Given the description of an element on the screen output the (x, y) to click on. 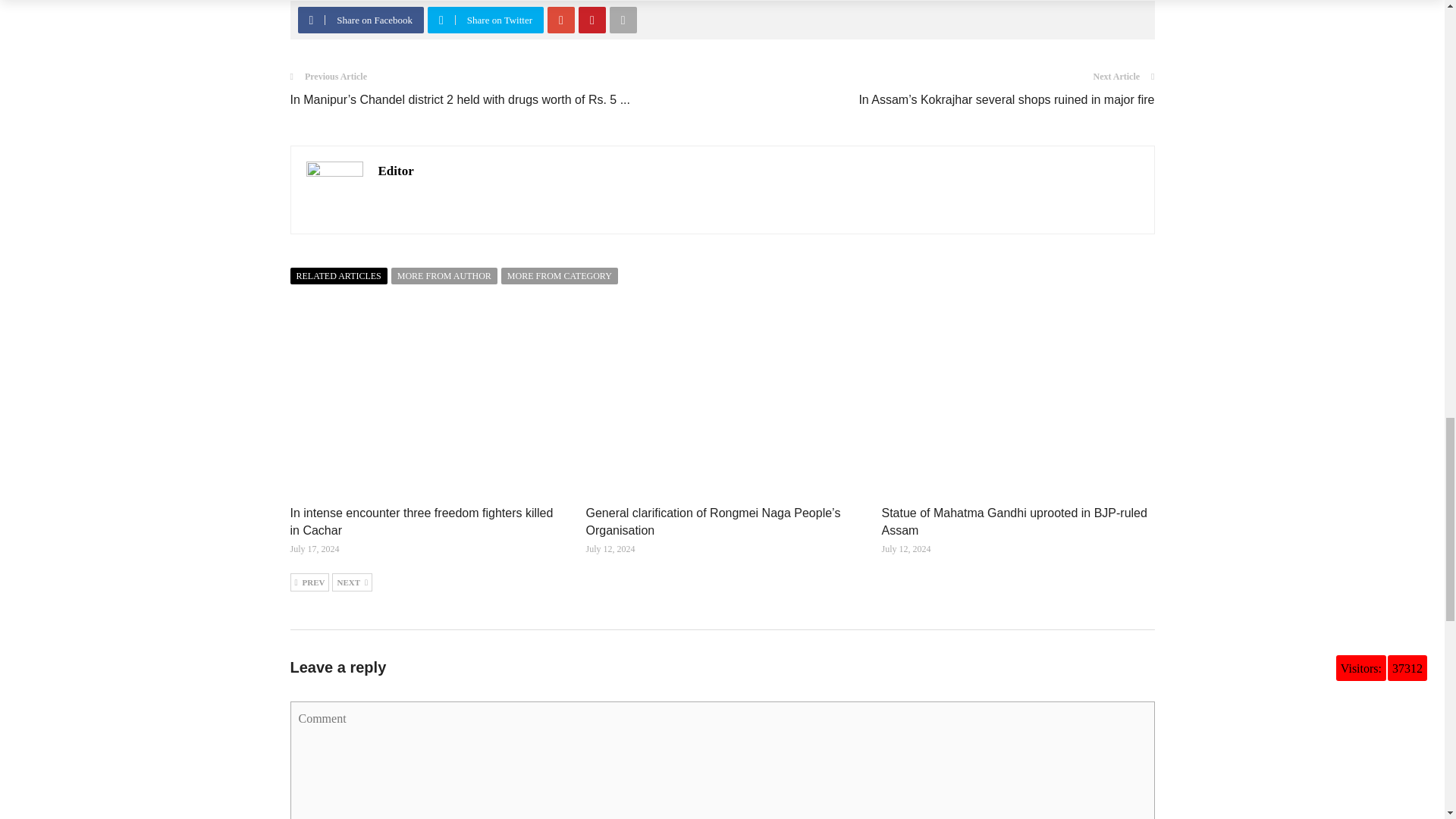
Facebook (311, 19)
Google Plus (561, 19)
Pinterest (591, 19)
Twitter (441, 19)
